Given the description of an element on the screen output the (x, y) to click on. 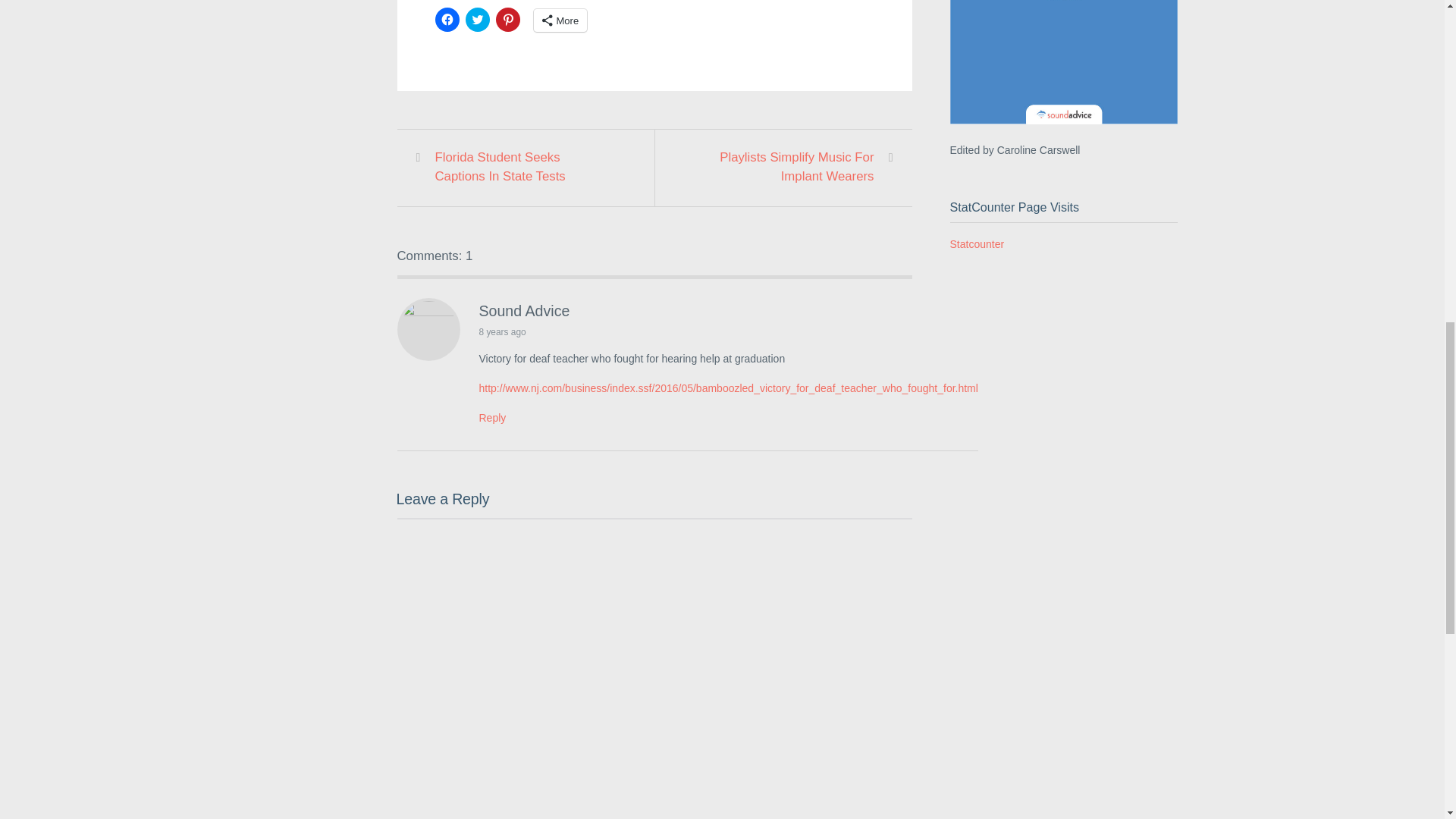
Previous (523, 167)
Click to share on Pinterest (507, 19)
Click to share on Twitter (477, 19)
Click to share on Facebook (447, 19)
